Given the description of an element on the screen output the (x, y) to click on. 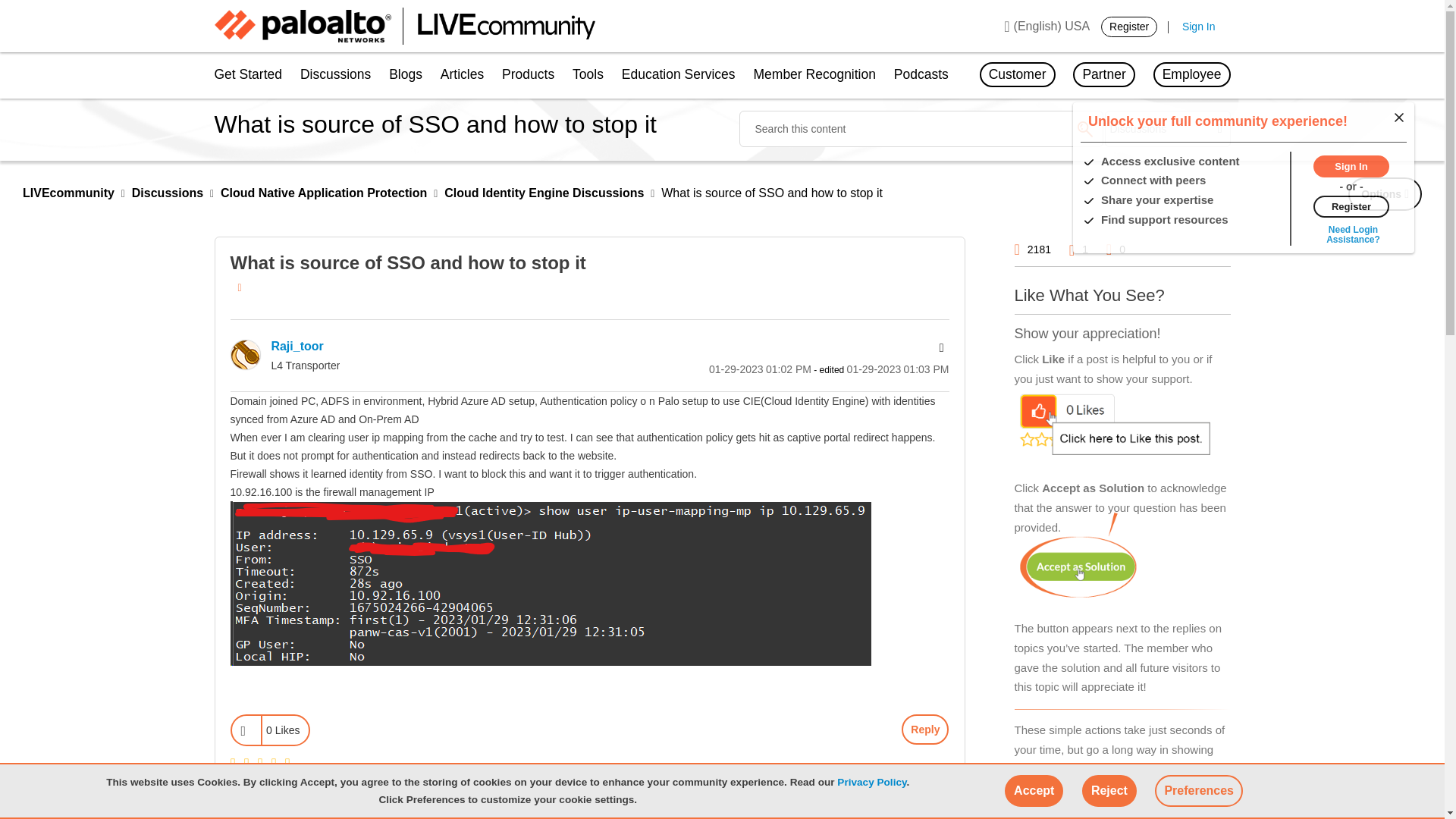
Discussions (335, 75)
Search (1084, 128)
Search Granularity (1167, 128)
Accept (1033, 790)
Search (920, 128)
View more (1353, 234)
Search (1084, 128)
Reject (1109, 790)
Sign In (1198, 26)
Register (1351, 205)
